Given the description of an element on the screen output the (x, y) to click on. 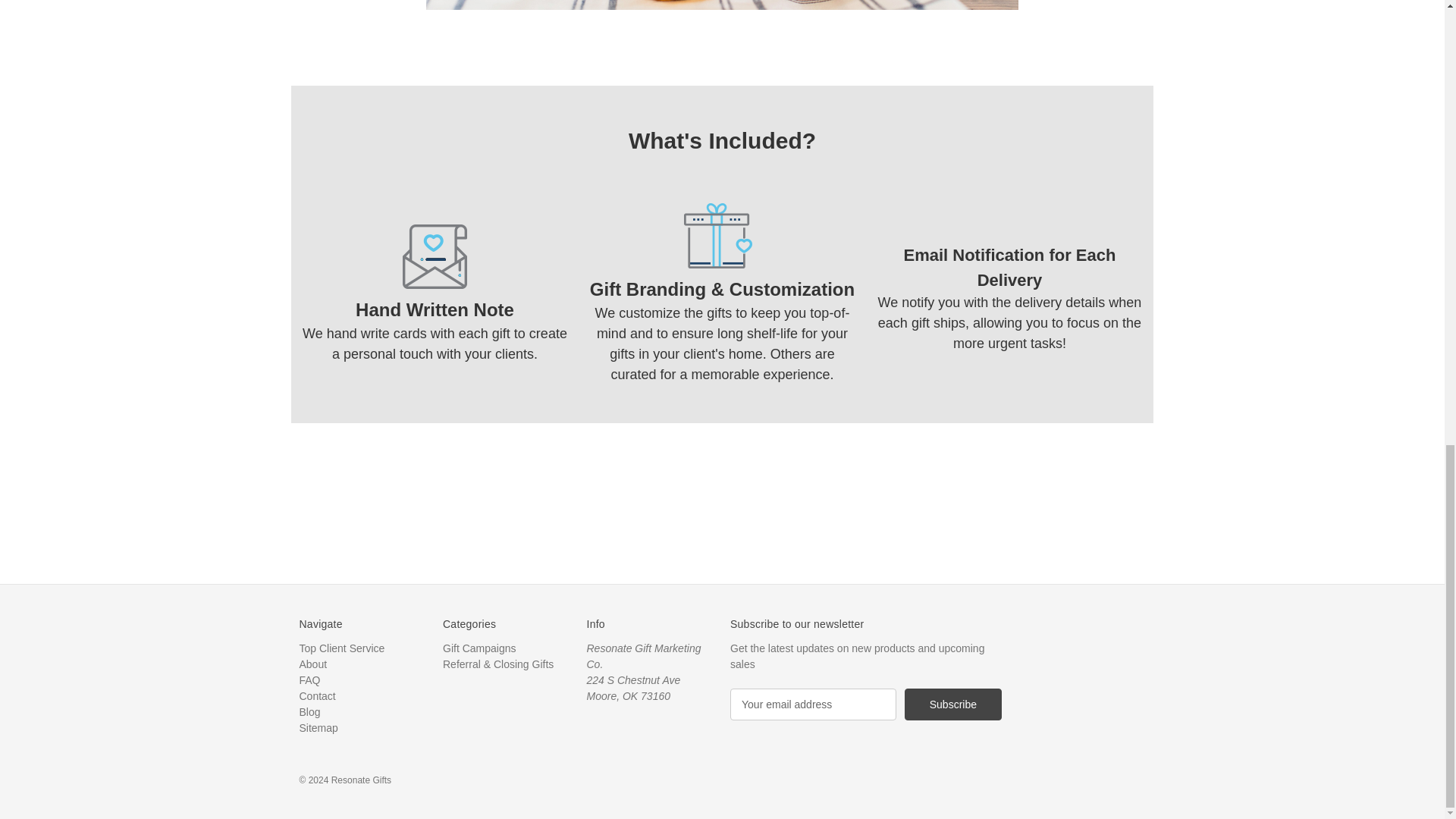
Top Client Service (341, 648)
Contact (316, 695)
Sitemap (317, 727)
About (312, 664)
Blog (309, 711)
Gift Campaigns (478, 648)
Subscribe (952, 704)
FAQ (309, 680)
Subscribe (952, 704)
